Given the description of an element on the screen output the (x, y) to click on. 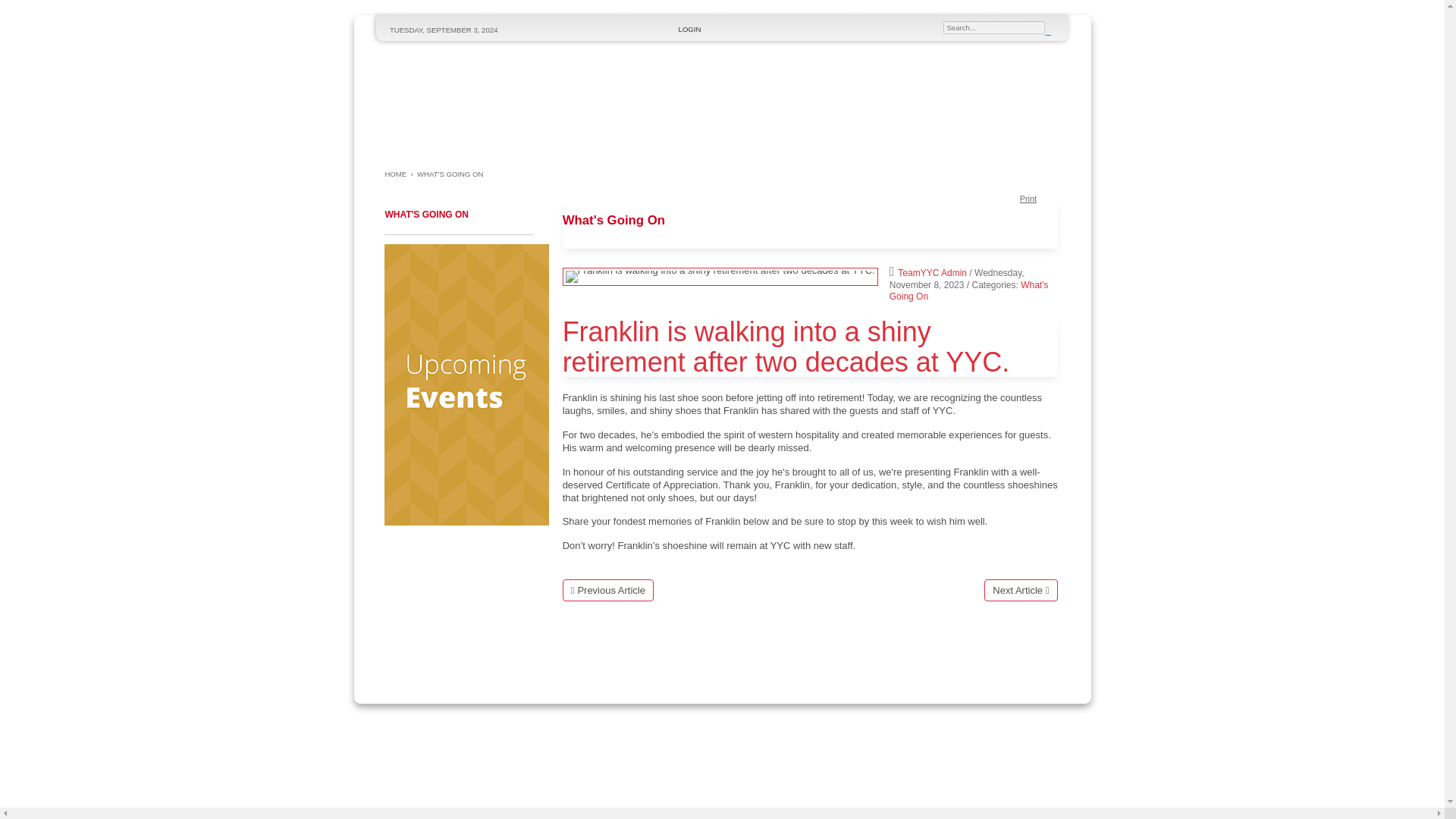
Print (1039, 196)
WHAT'S GOING ON (449, 173)
Login (688, 29)
Clear search text (1030, 32)
TeamYYC (502, 100)
LOGIN (688, 29)
Previous Article (607, 590)
WHAT'S GOING ON (410, 147)
What's Going On (968, 290)
